Given the description of an element on the screen output the (x, y) to click on. 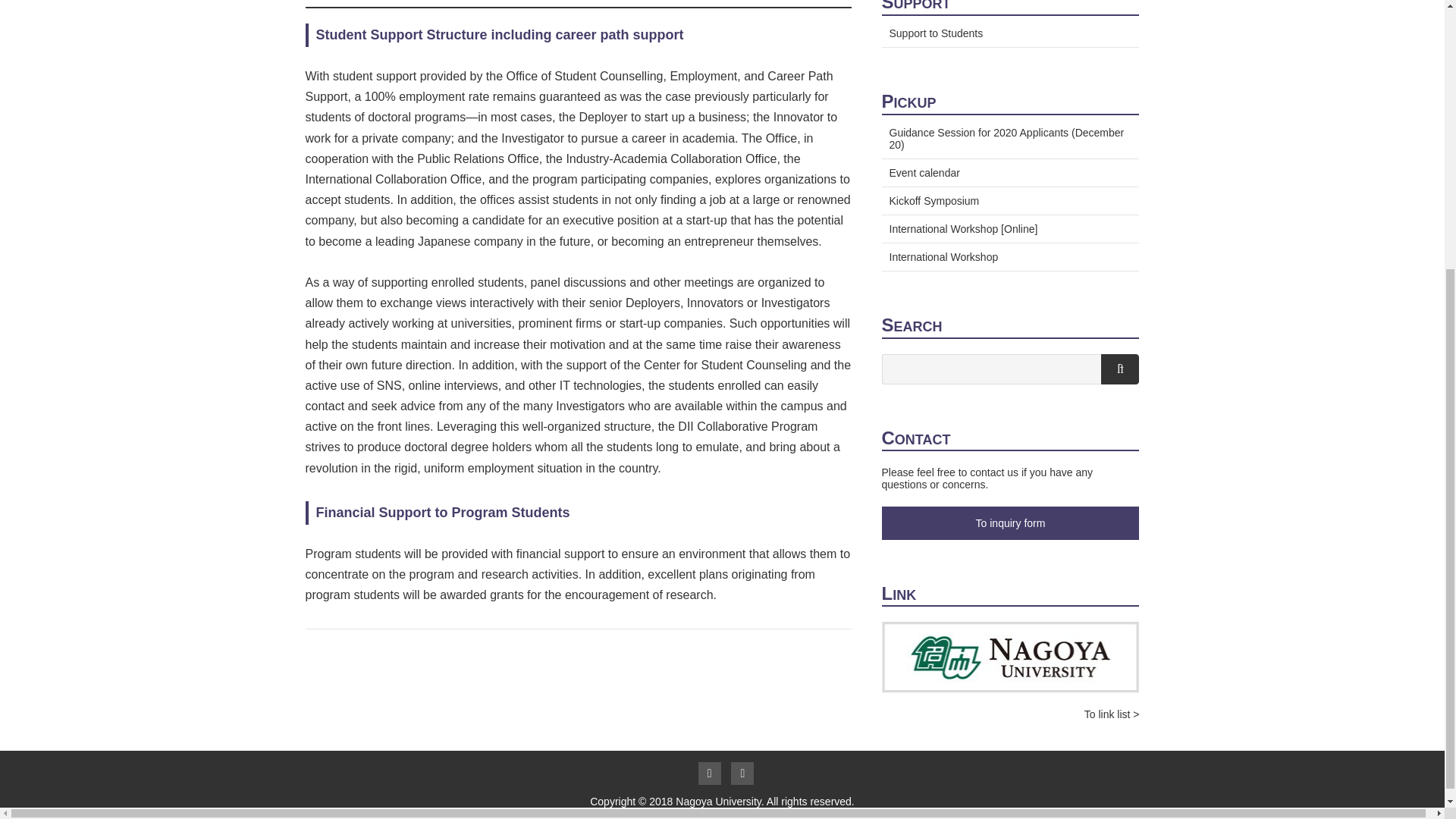
Support to Students (1009, 31)
